Given the description of an element on the screen output the (x, y) to click on. 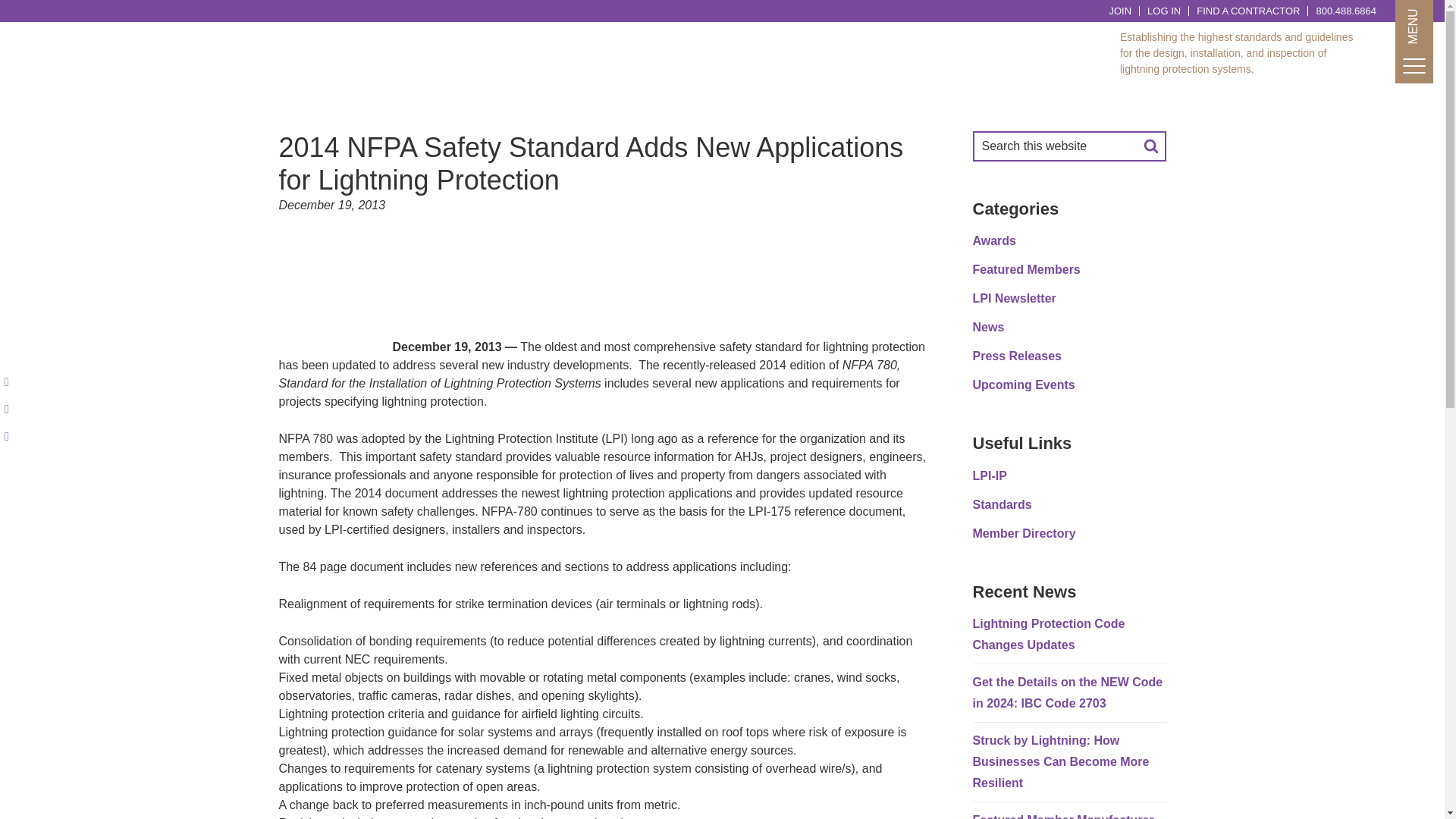
JOIN (1119, 10)
Search (1150, 146)
800.488.6864 (1345, 10)
LOG IN (1163, 10)
Lightning Protection Institute on Instagram (13, 409)
Lightning Protection Institute on Facebook (13, 436)
Lightning Protection Institute on Linkedin (13, 381)
FIND A CONTRACTOR (1248, 10)
Search (1150, 146)
